Given the description of an element on the screen output the (x, y) to click on. 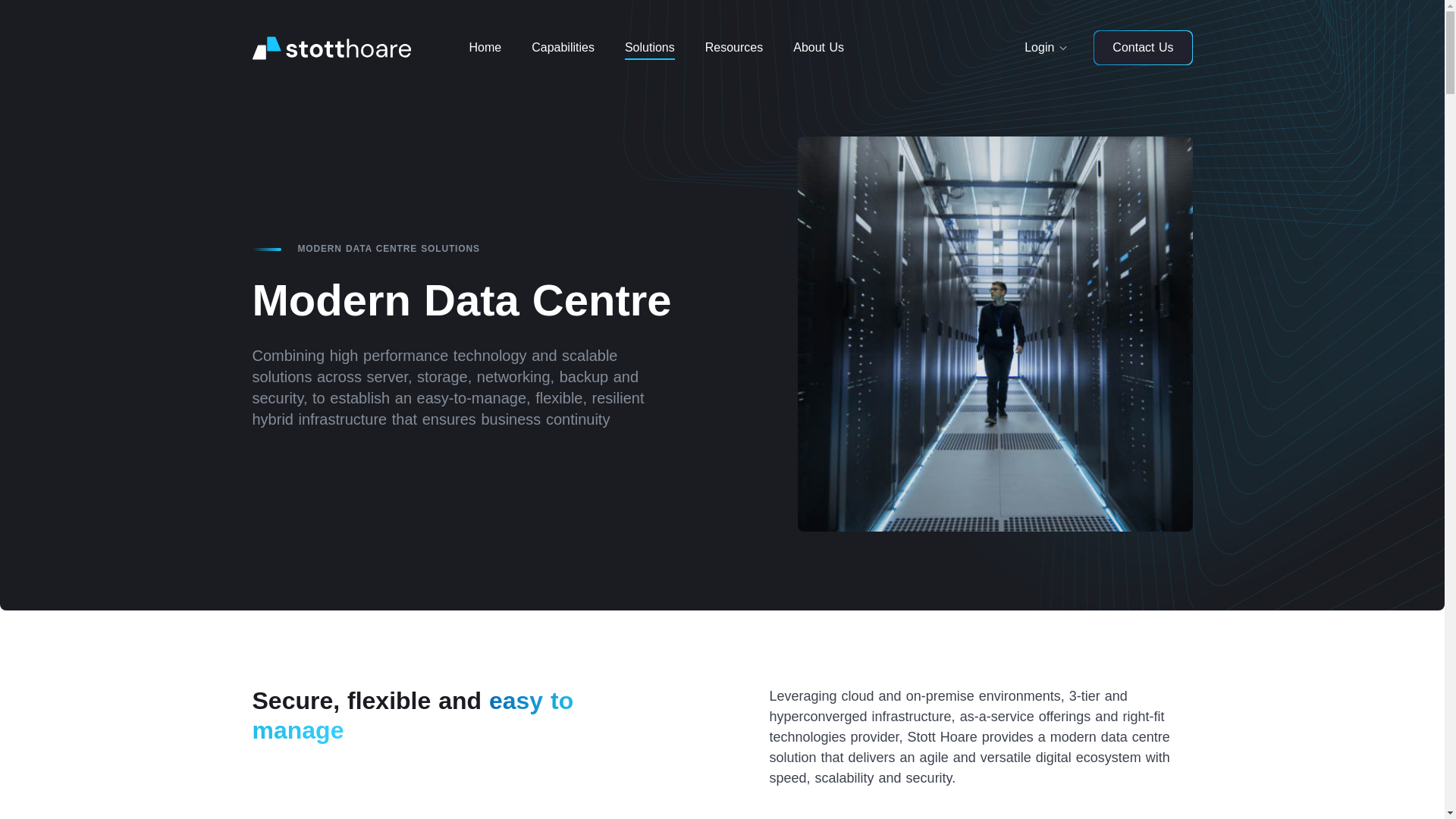
About Us (818, 47)
Solutions (650, 47)
Home (484, 47)
Capabilities (563, 47)
Login (1038, 47)
Contact Us (1142, 47)
Resources (733, 47)
